Given the description of an element on the screen output the (x, y) to click on. 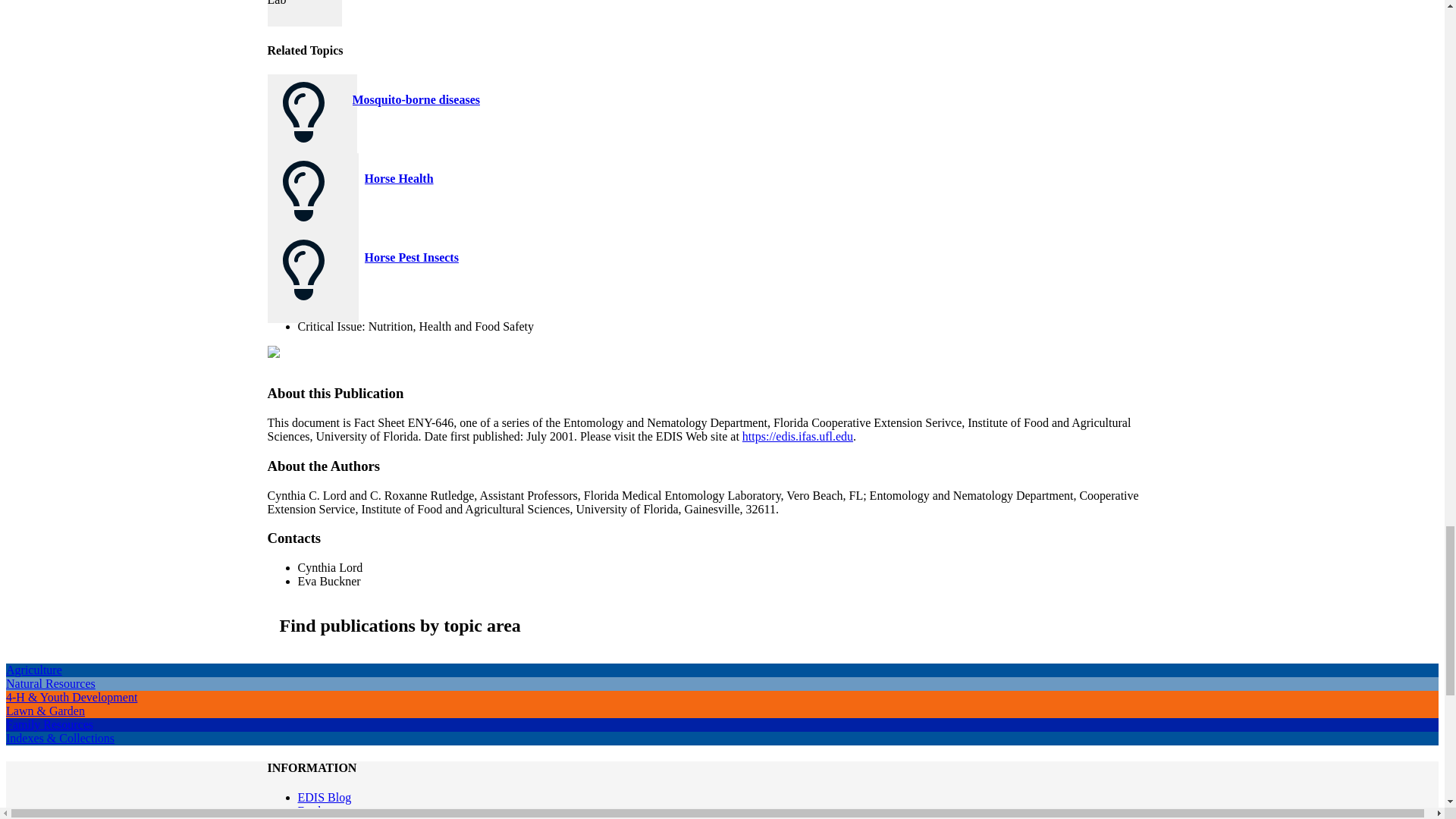
Mosquito-borne diseases (415, 99)
EDIS Blog (323, 797)
Horse Health (398, 178)
Accessibility (329, 818)
Agriculture (33, 669)
Fact Sheet (298, 352)
Natural Resources (50, 683)
Mosquito-borne diseases (415, 99)
Family Resources (49, 724)
Accessibility (329, 818)
